Given the description of an element on the screen output the (x, y) to click on. 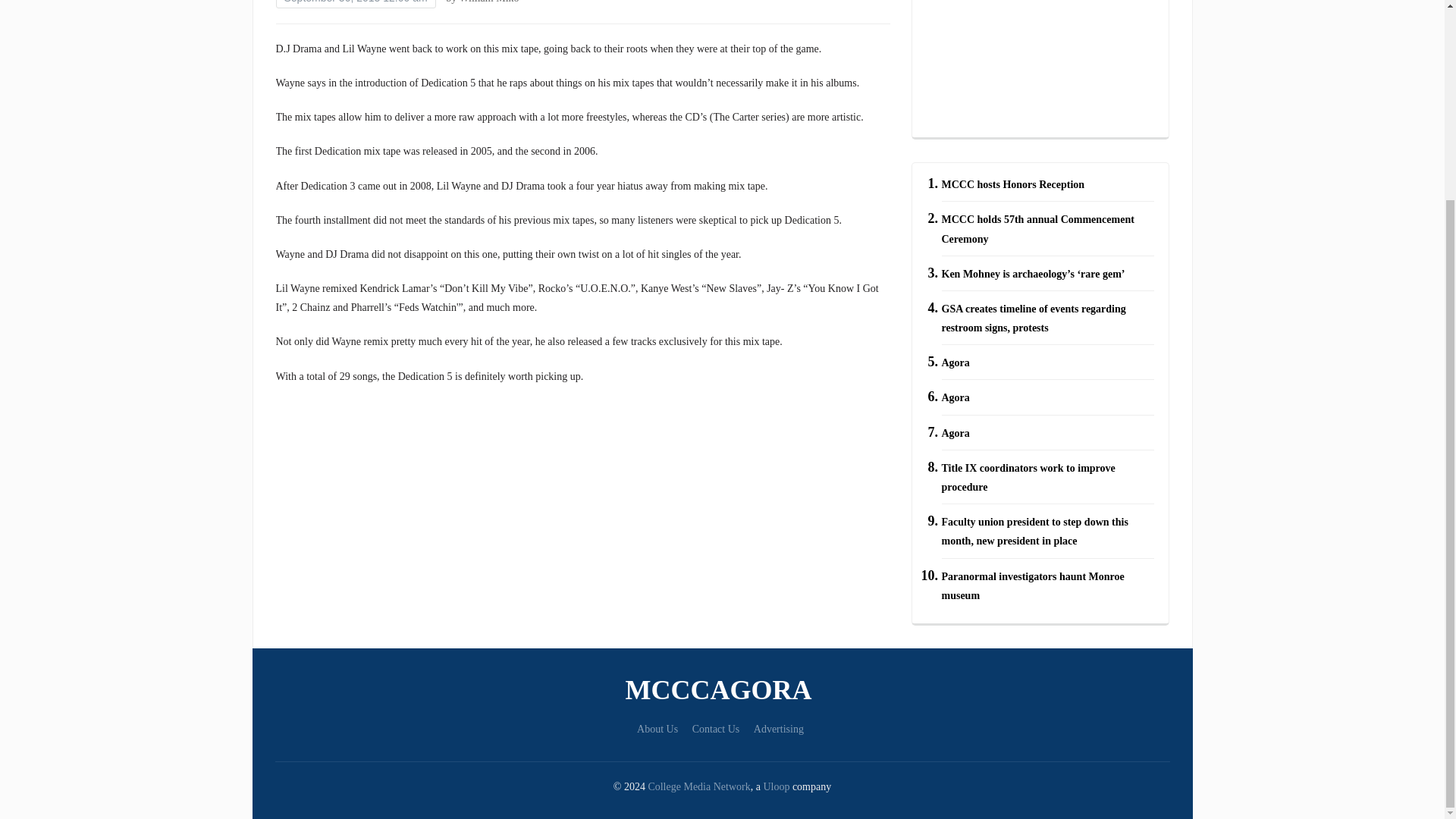
Permanent Link to Agora (955, 362)
MCCC hosts Honors Reception (1013, 184)
Permanent Link to Agora (955, 432)
Permanent Link to Agora (955, 398)
Permanent Link to MCCC hosts Honors Reception (1013, 184)
